Given the description of an element on the screen output the (x, y) to click on. 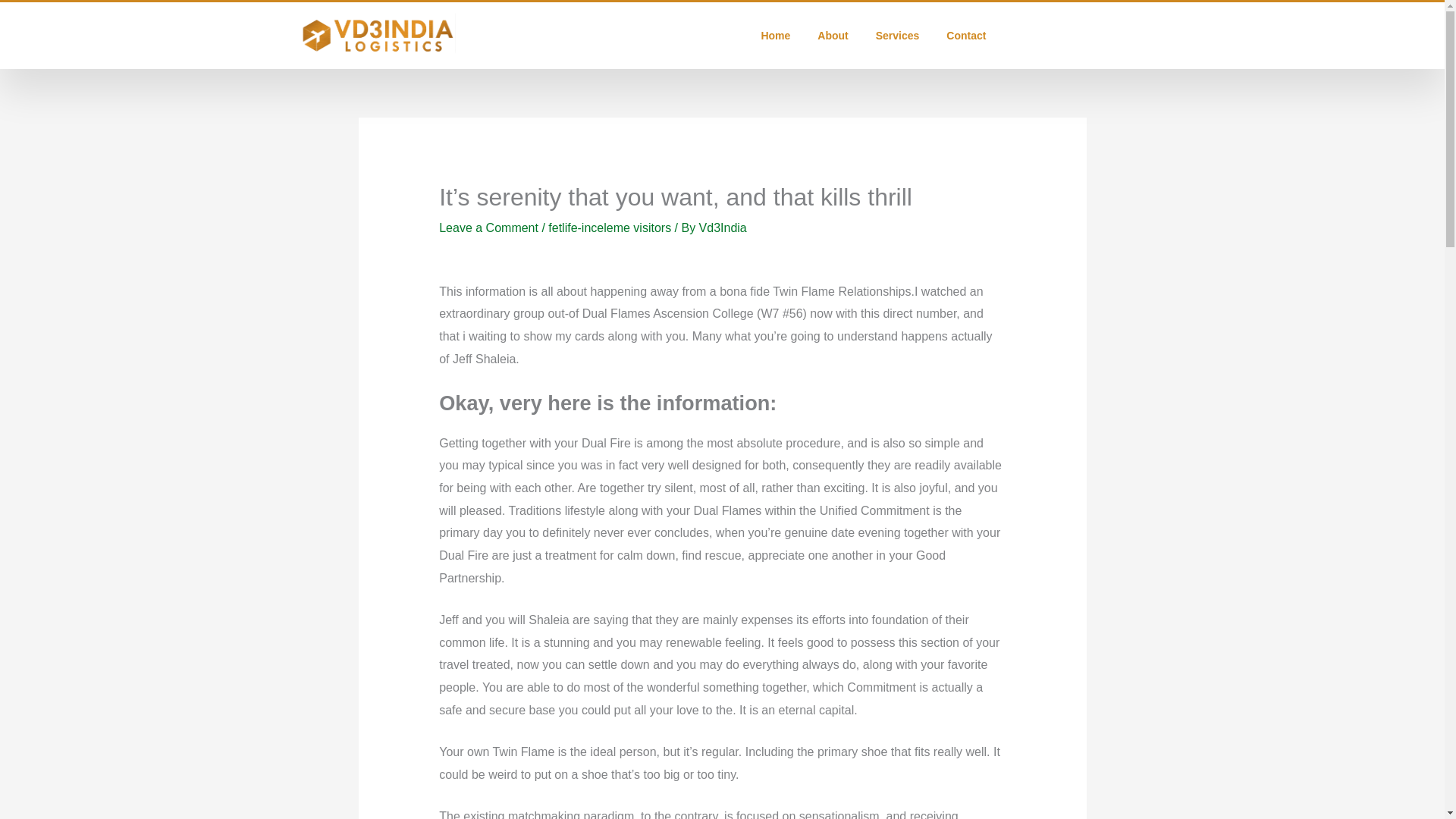
View all posts by Vd3India (722, 227)
Home (774, 35)
Services (897, 35)
fetlife-inceleme visitors (609, 227)
Contact (965, 35)
About (832, 35)
Vd3India (722, 227)
Leave a Comment (488, 227)
